Given the description of an element on the screen output the (x, y) to click on. 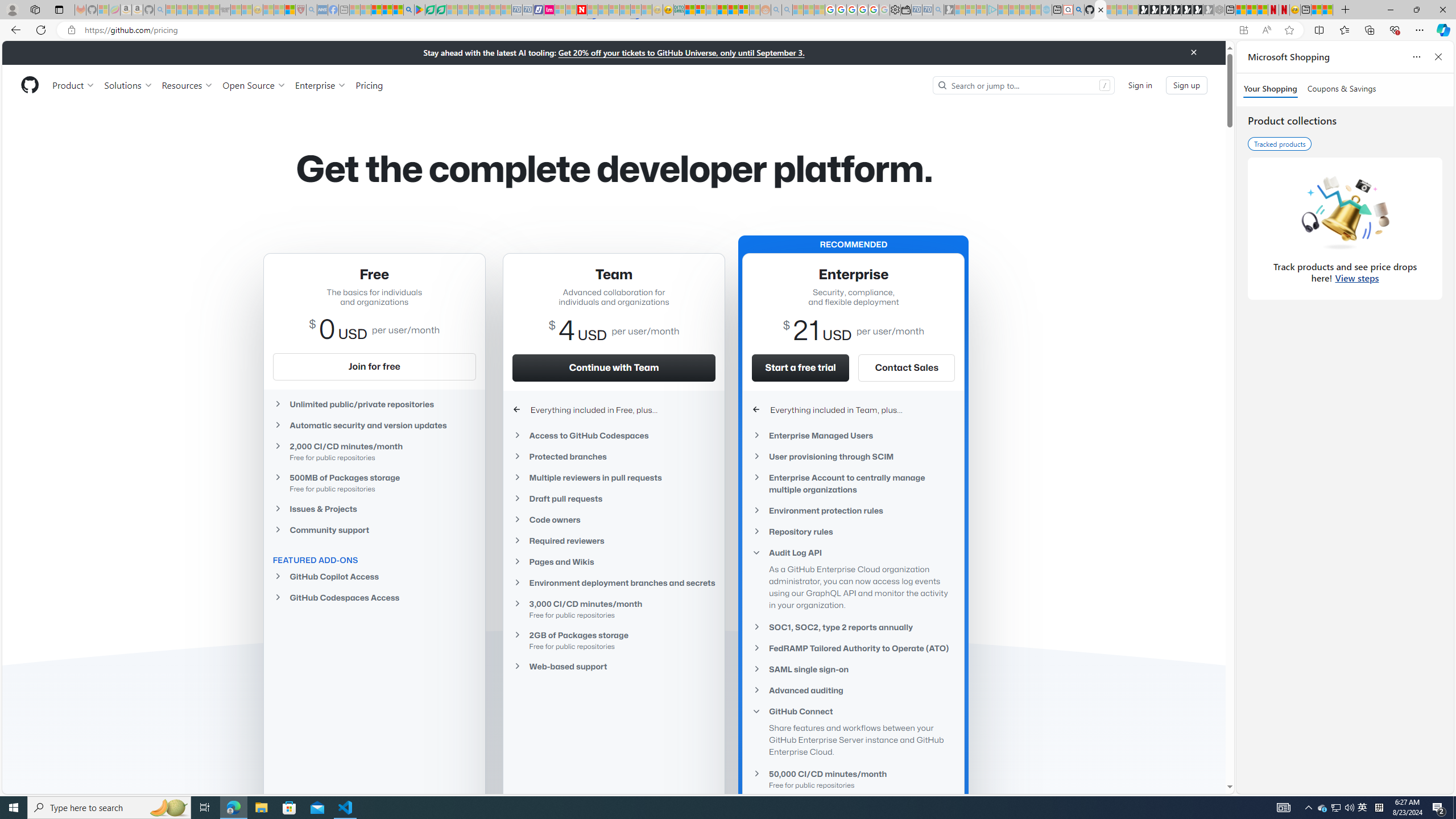
github - Search (1078, 9)
Automatic security and version updates (374, 425)
50,000 CI/CD minutes/monthFree for public repositories (853, 778)
User provisioning through SCIM (853, 456)
Repository rules (853, 531)
